Given the description of an element on the screen output the (x, y) to click on. 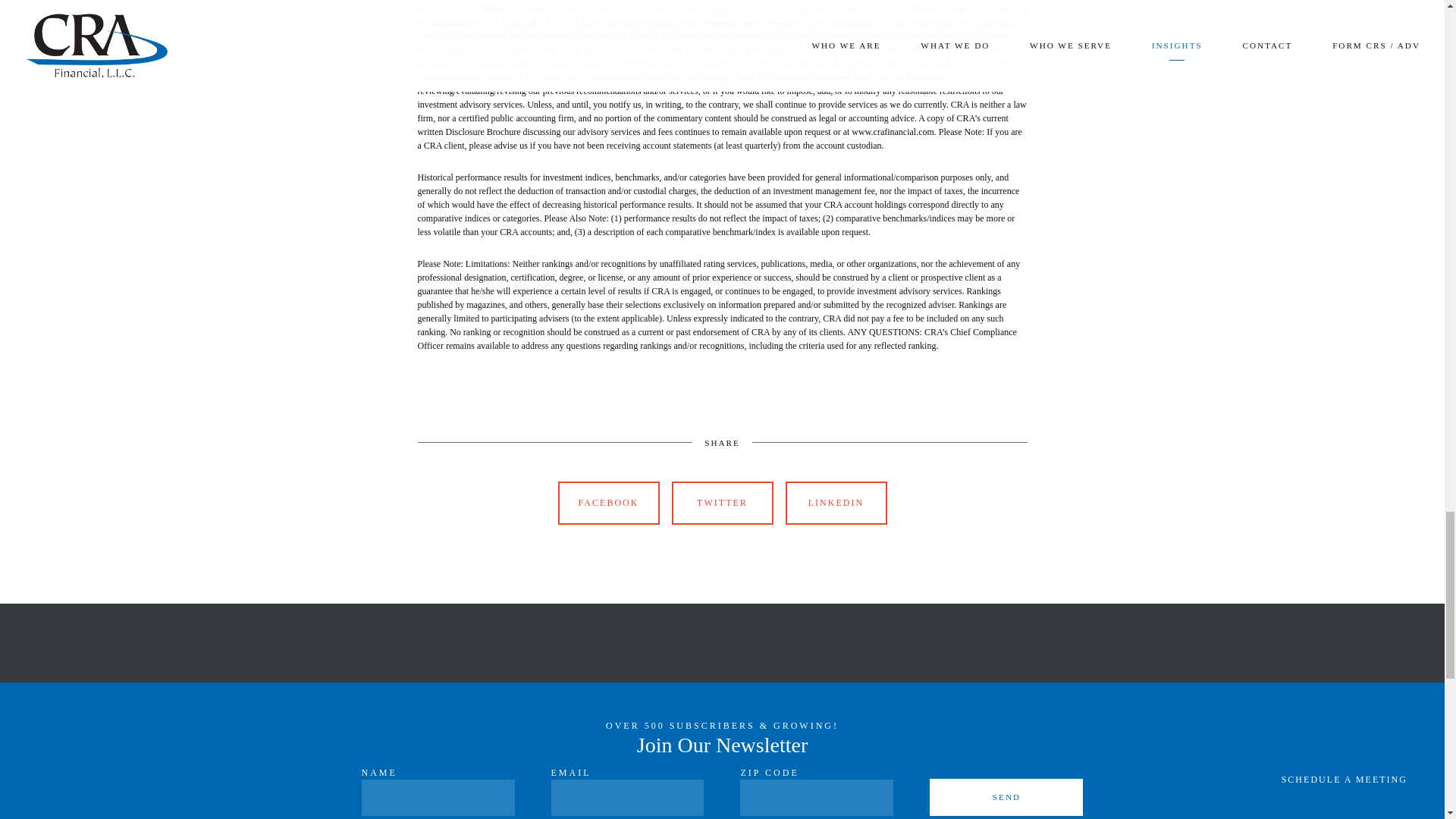
LINKEDIN (836, 502)
FACEBOOK (608, 502)
TWITTER (722, 502)
SEND (1006, 796)
